Given the description of an element on the screen output the (x, y) to click on. 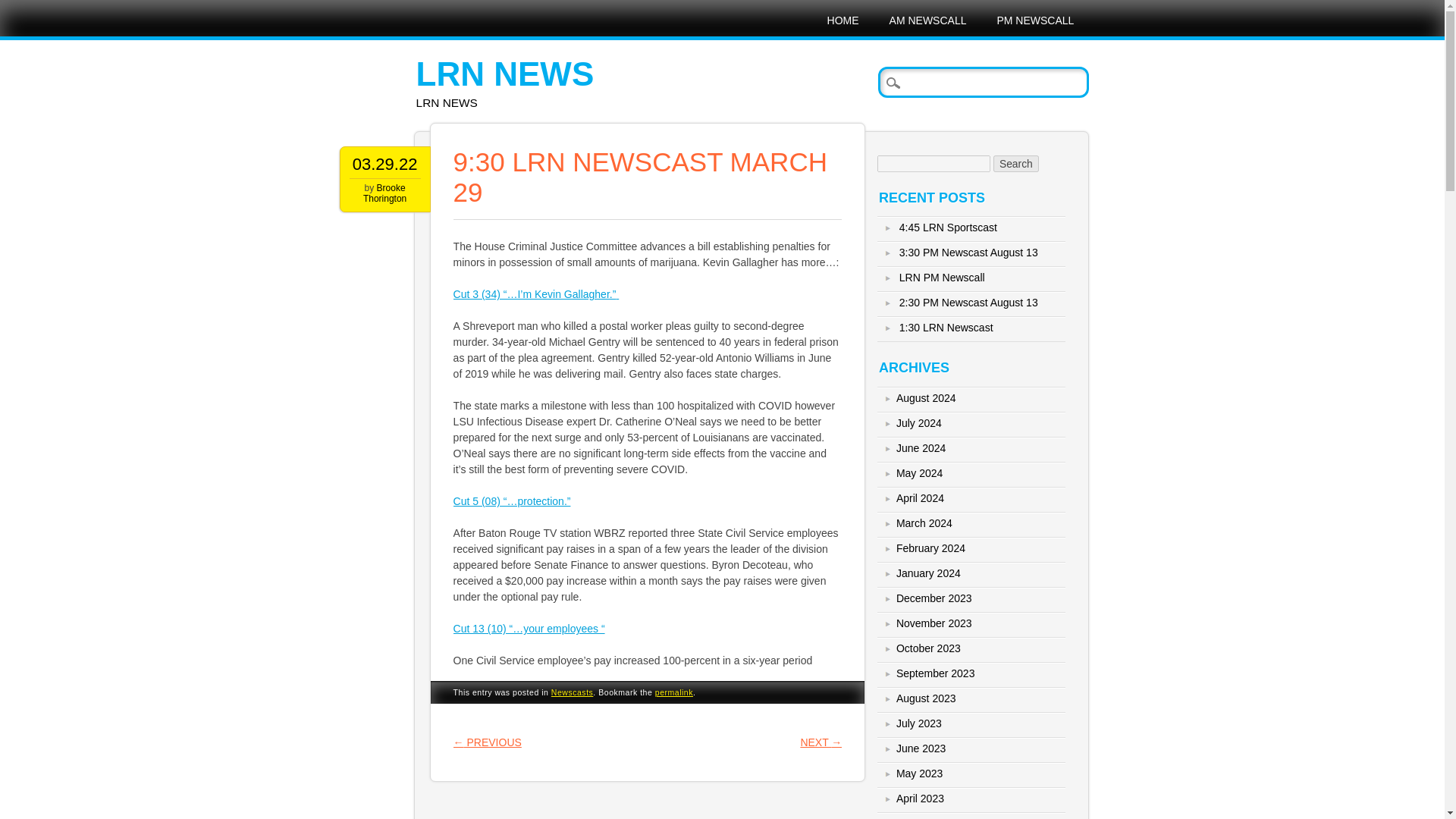
April 2024 (919, 498)
July 2023 (919, 723)
LRN News (505, 73)
December 2023 (934, 598)
View all posts by Brooke Thorington (384, 192)
03.29.22 (384, 163)
November 2023 (934, 623)
January 2024 (928, 573)
Search (22, 8)
AM NEWSCALL (928, 20)
